Given the description of an element on the screen output the (x, y) to click on. 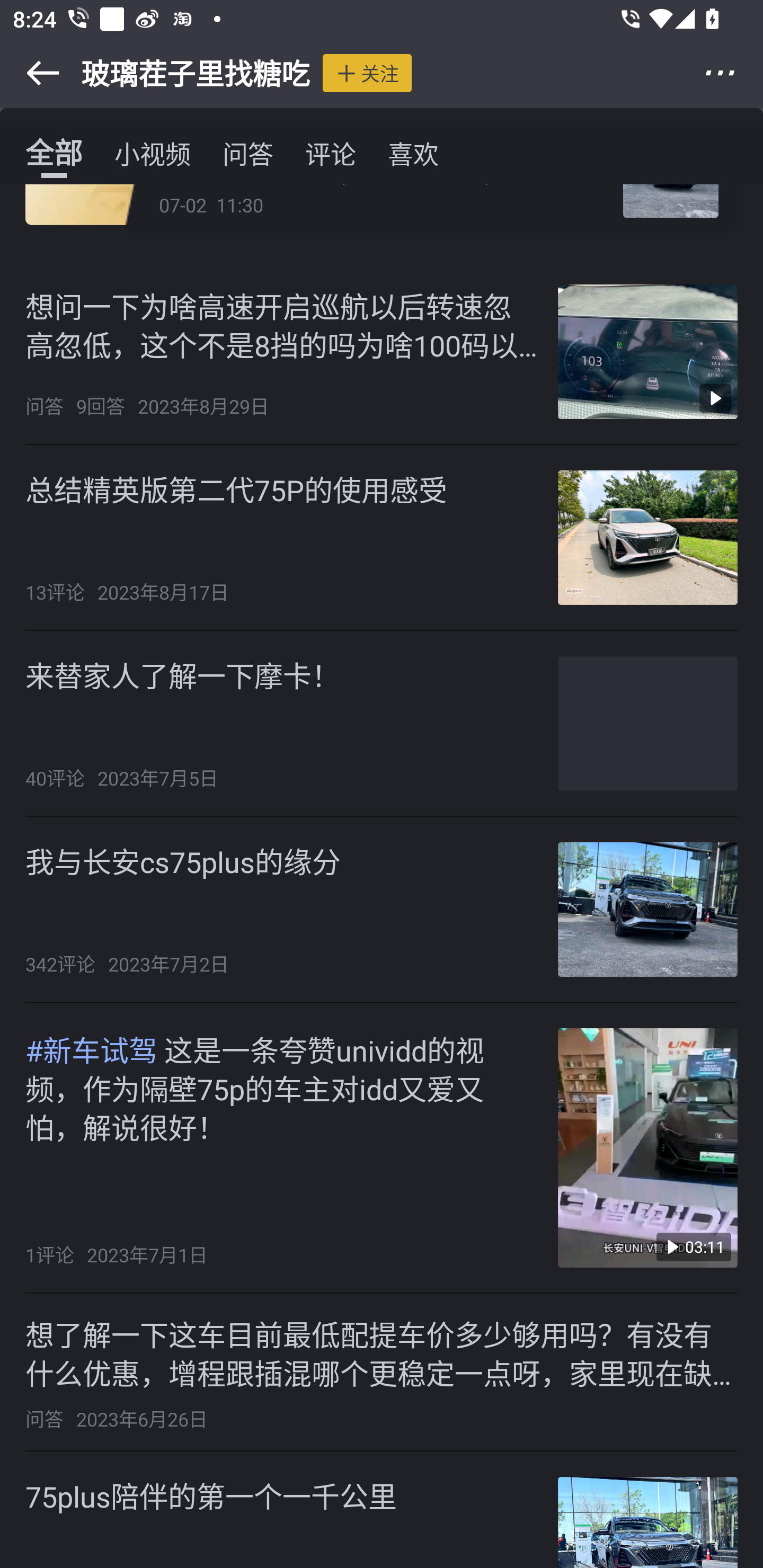
 (30, 72)
 (732, 72)
 关注 (367, 72)
全部 (53, 152)
小视频 (152, 152)
问答 (247, 152)
评论 (330, 152)
喜欢 (412, 152)
总结精英版第二代75P的使用感受 13评论 2023年8月17日 (381, 537)
总结精英版第二代75P的使用感受 (236, 489)
来替家人了解一下摩卡！ 40评论 2023年7月5日 (381, 723)
来替家人了解一下摩卡！ (182, 675)
我与长安cs75plus的缘分 342评论 2023年7月2日 (381, 909)
我与长安cs75plus的缘分 (183, 861)
#新车试驾 这是一条夸赞unividd的视频，作为隔壁75p的车主对idd又爱又怕，解说很好！ (281, 1087)
75plus陪伴的第一个一千公里 (381, 1509)
75plus陪伴的第一个一千公里 (210, 1496)
